Given the description of an element on the screen output the (x, y) to click on. 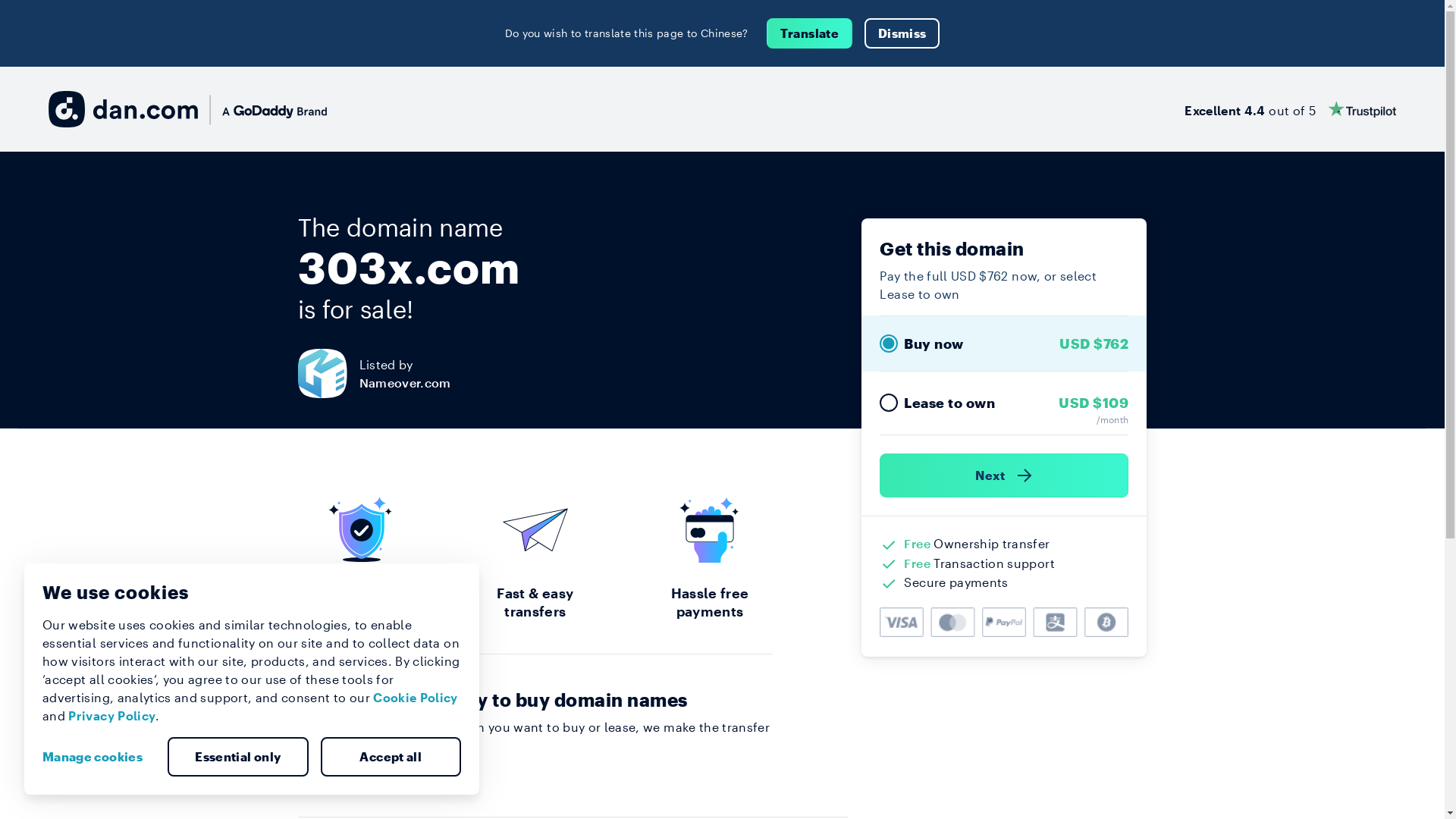
Next
) Element type: text (1003, 475)
Manage cookies Element type: text (98, 756)
Dismiss Element type: text (901, 33)
Excellent 4.4 out of 5 Element type: text (1290, 109)
Accept all Element type: text (390, 756)
Cookie Policy Element type: text (415, 697)
Translate Element type: text (809, 33)
Essential only Element type: text (237, 756)
Privacy Policy Element type: text (111, 715)
